Given the description of an element on the screen output the (x, y) to click on. 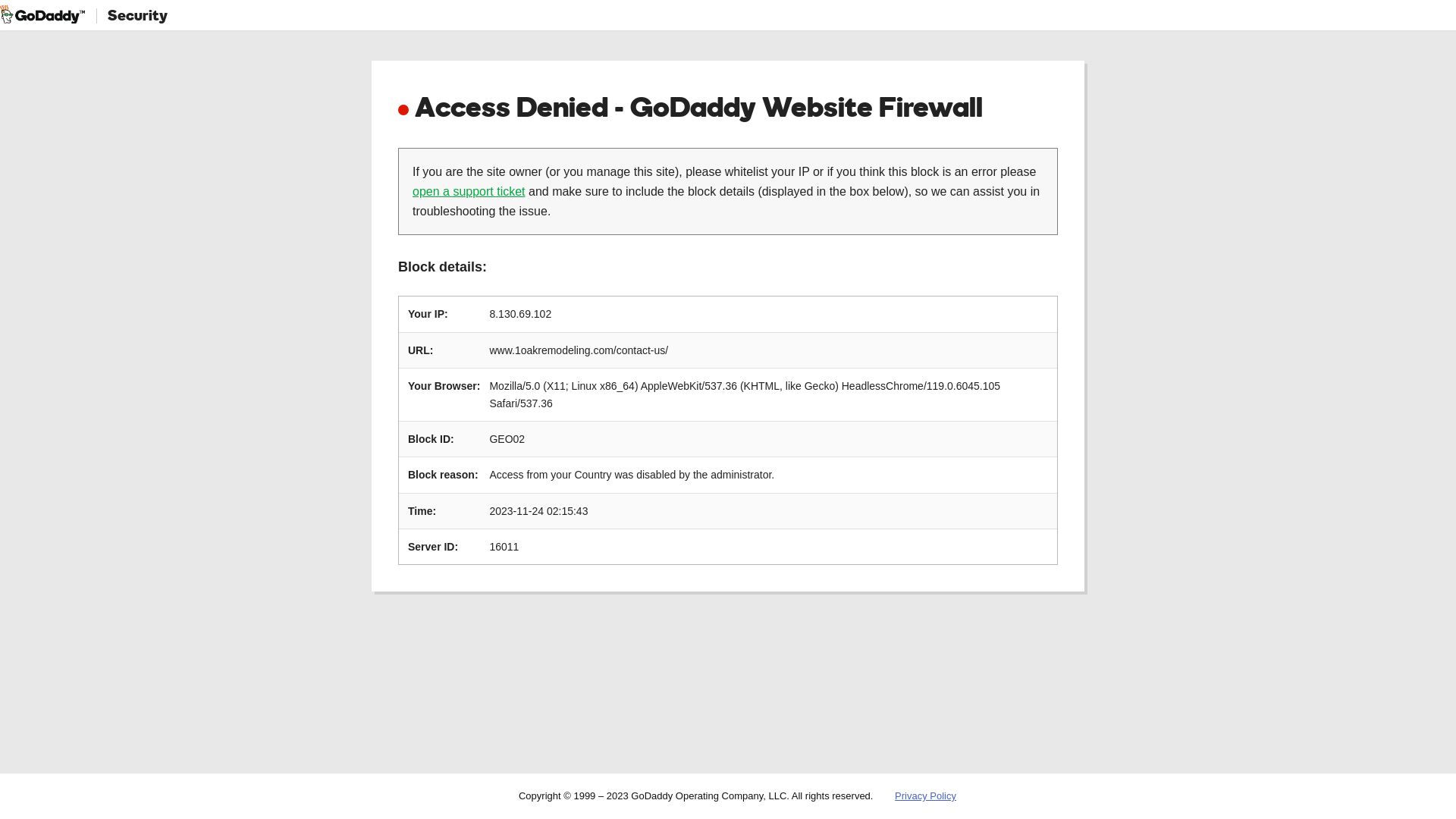
open a support ticket Element type: text (468, 191)
Privacy Policy Element type: text (925, 795)
